Given the description of an element on the screen output the (x, y) to click on. 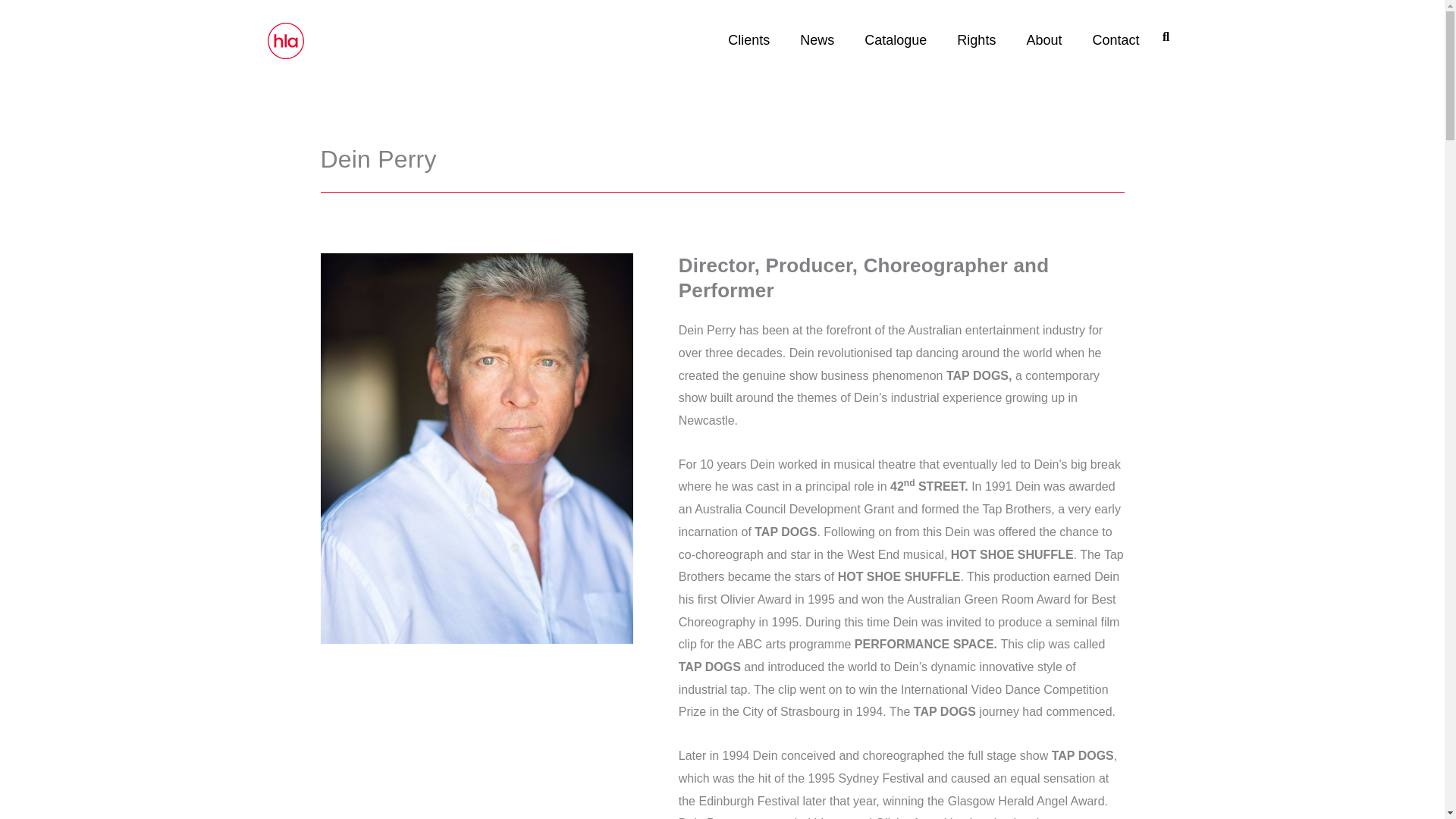
About (1043, 39)
Contact (1115, 39)
Catalogue (895, 39)
News (816, 39)
Clients (748, 39)
Rights (976, 39)
